Given the description of an element on the screen output the (x, y) to click on. 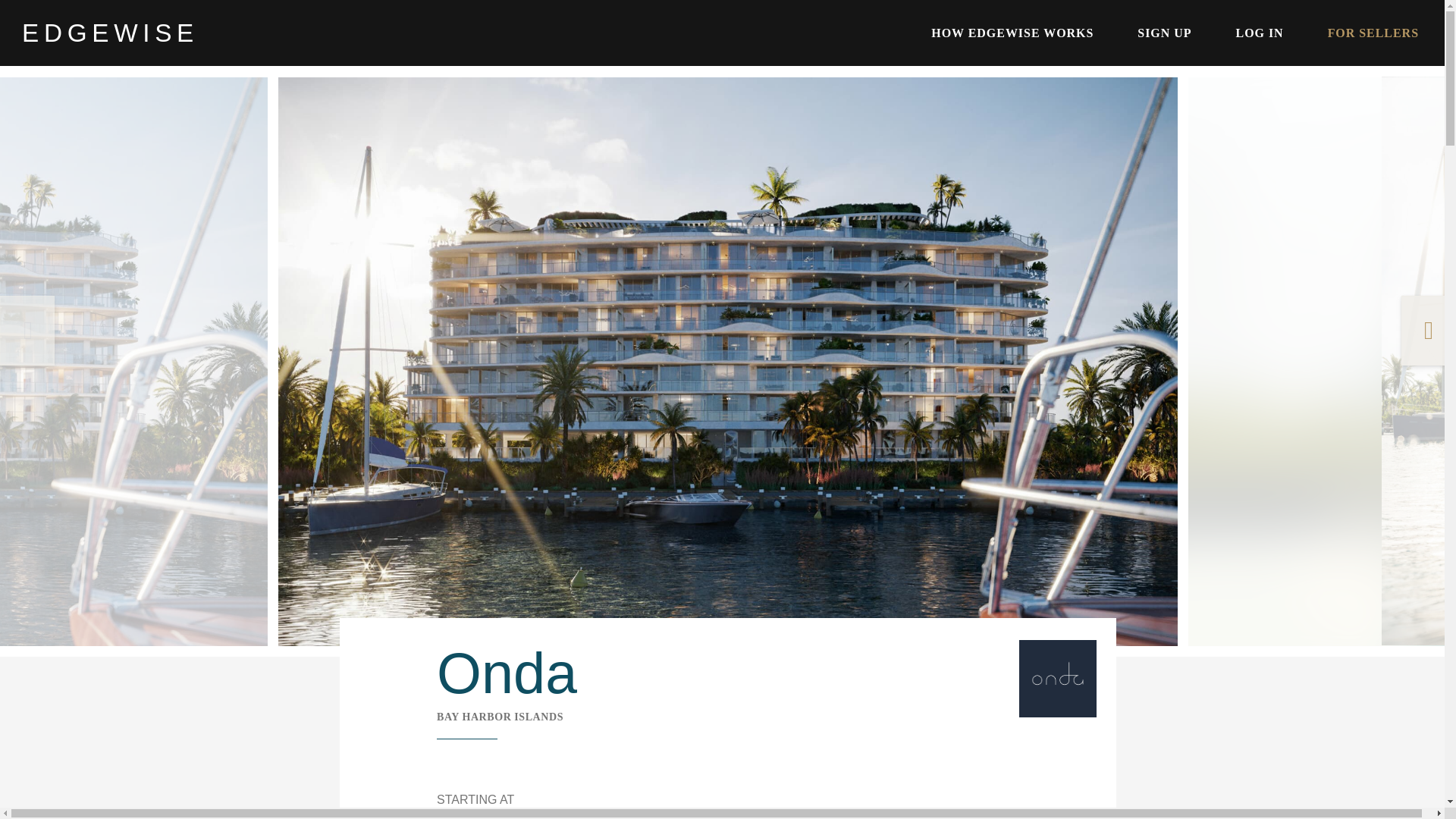
FOR SELLERS (1373, 33)
SIGN UP (1163, 33)
HOW EDGEWISE WORKS (1011, 33)
LOG IN (1260, 33)
